Given the description of an element on the screen output the (x, y) to click on. 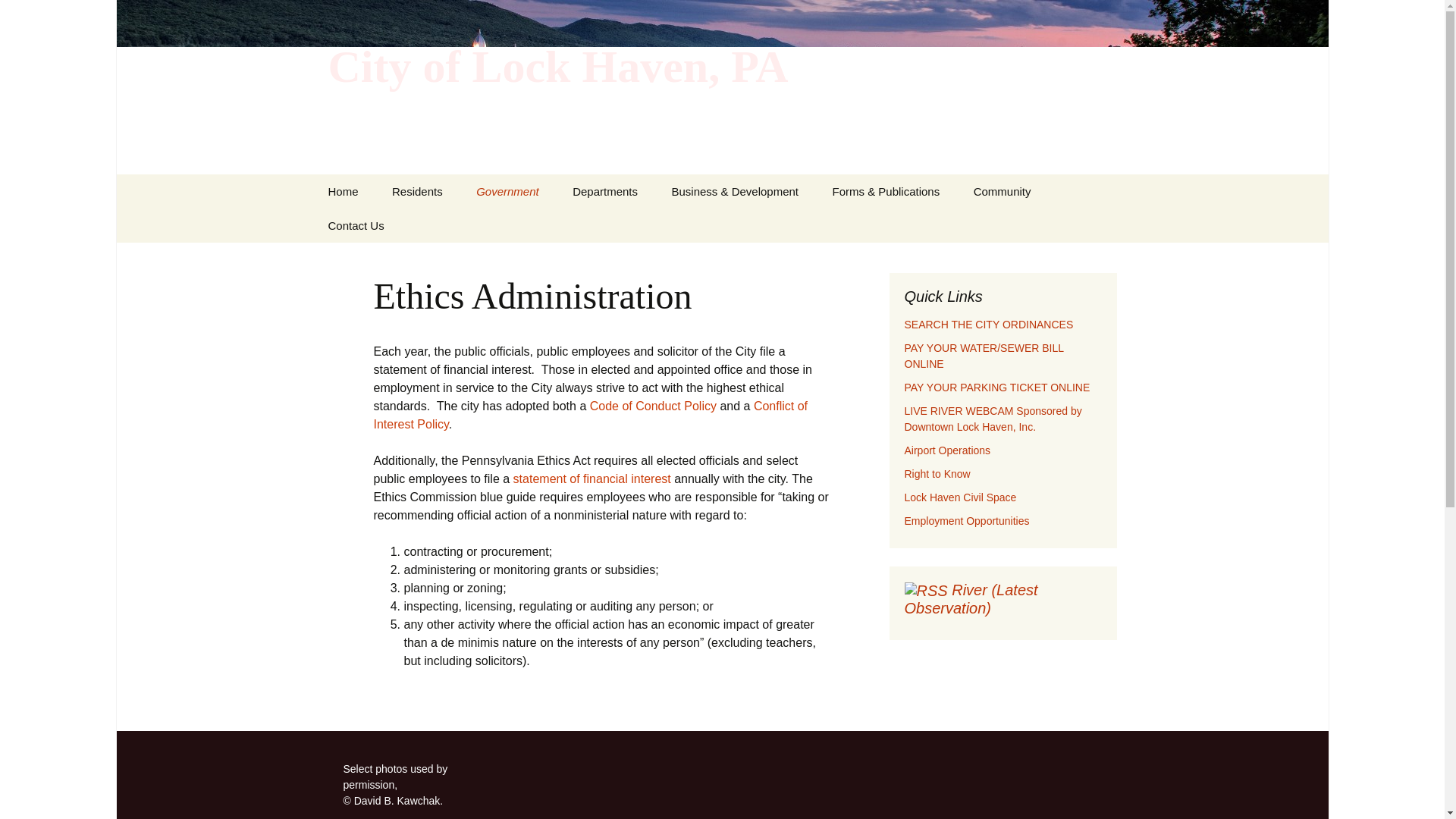
Resources (452, 225)
Home (342, 191)
Residents (417, 191)
Government (507, 191)
Sustainability (536, 225)
